Given the description of an element on the screen output the (x, y) to click on. 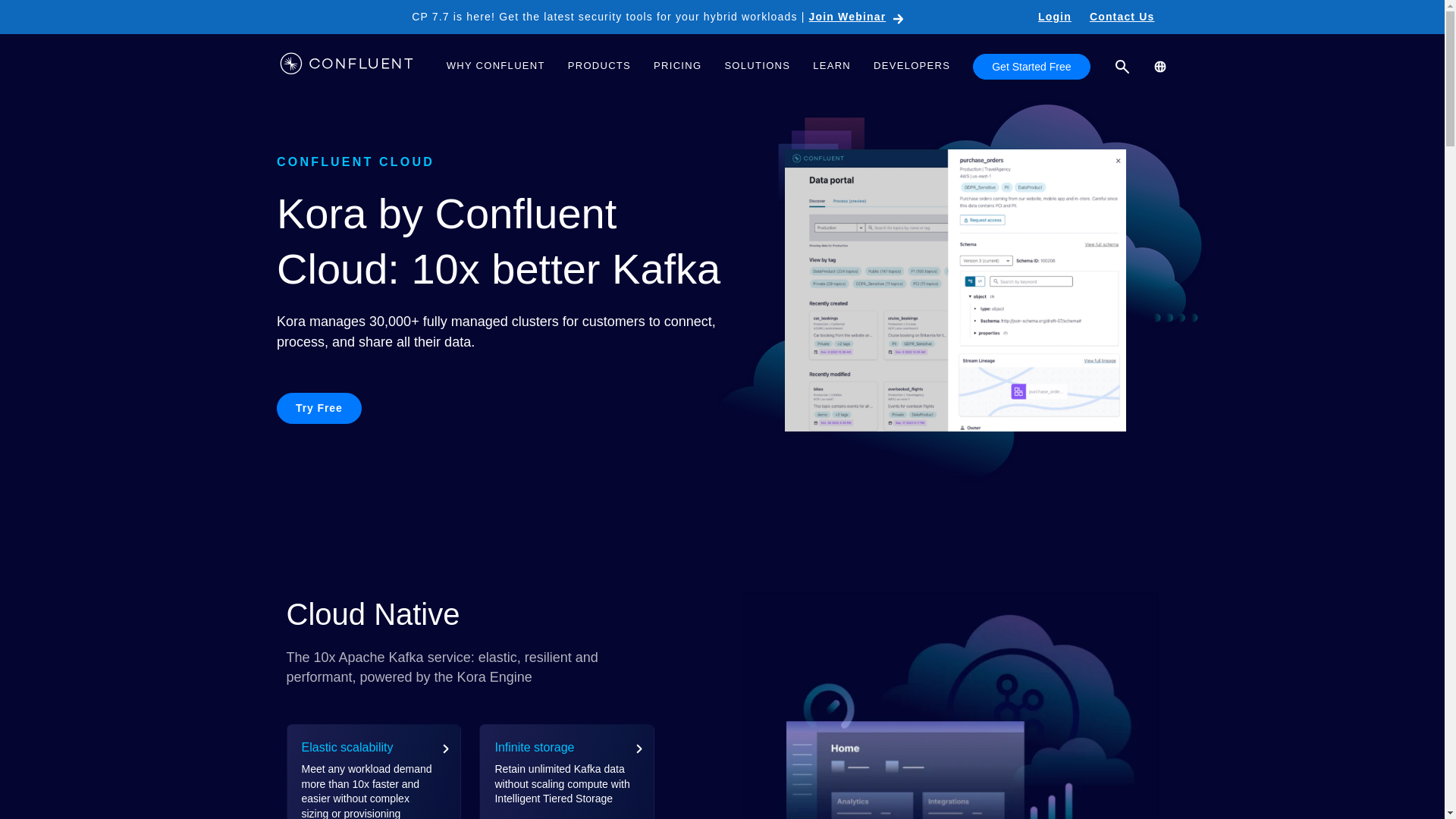
Login (1054, 16)
Confluent (346, 65)
Contact Us (1121, 16)
Join Webinar (857, 16)
